Given the description of an element on the screen output the (x, y) to click on. 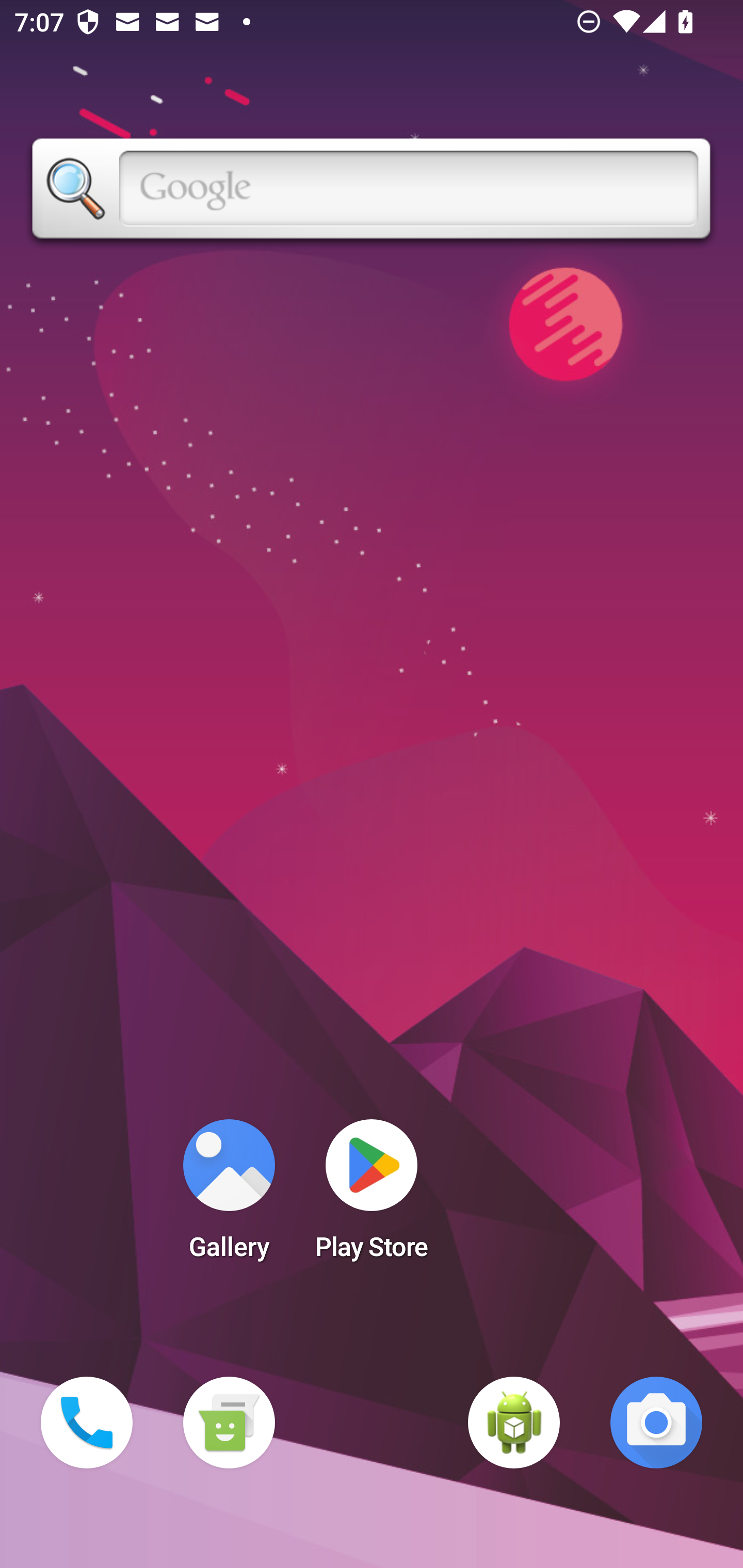
Gallery (228, 1195)
Play Store (371, 1195)
Phone (86, 1422)
Messaging (228, 1422)
WebView Browser Tester (513, 1422)
Camera (656, 1422)
